Given the description of an element on the screen output the (x, y) to click on. 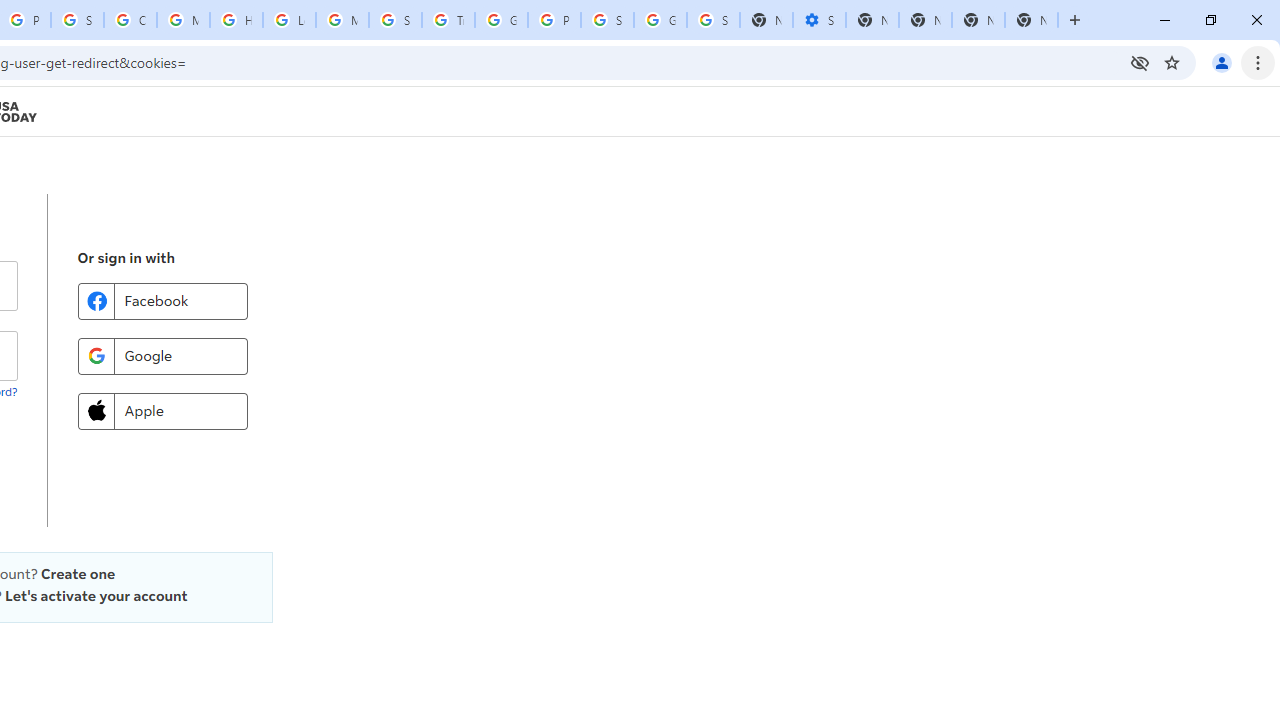
Sign in - Google Accounts (607, 20)
Third-party cookies blocked (1139, 62)
Settings - Performance (819, 20)
Trusted Information and Content - Google Safety Center (448, 20)
Apple (162, 410)
New Tab (1075, 20)
Sign in - Google Accounts (713, 20)
New Tab (1031, 20)
Google Ads - Sign in (501, 20)
Google Cybersecurity Innovations - Google Safety Center (660, 20)
Restore (1210, 20)
